Given the description of an element on the screen output the (x, y) to click on. 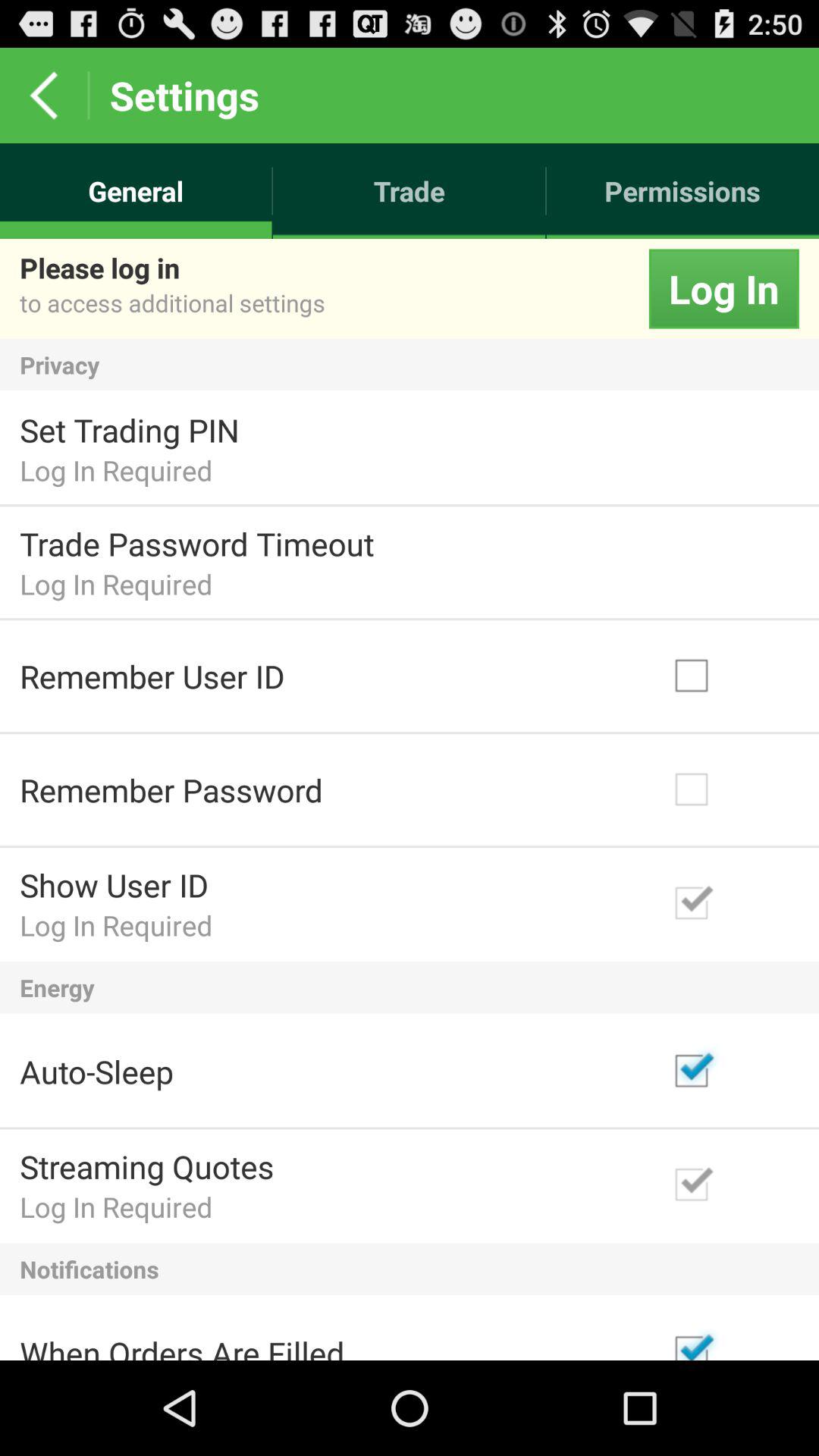
click on check box beside show user id (729, 903)
select the box which is beside remember user id (729, 675)
click on fifth check box (729, 1185)
